Given the description of an element on the screen output the (x, y) to click on. 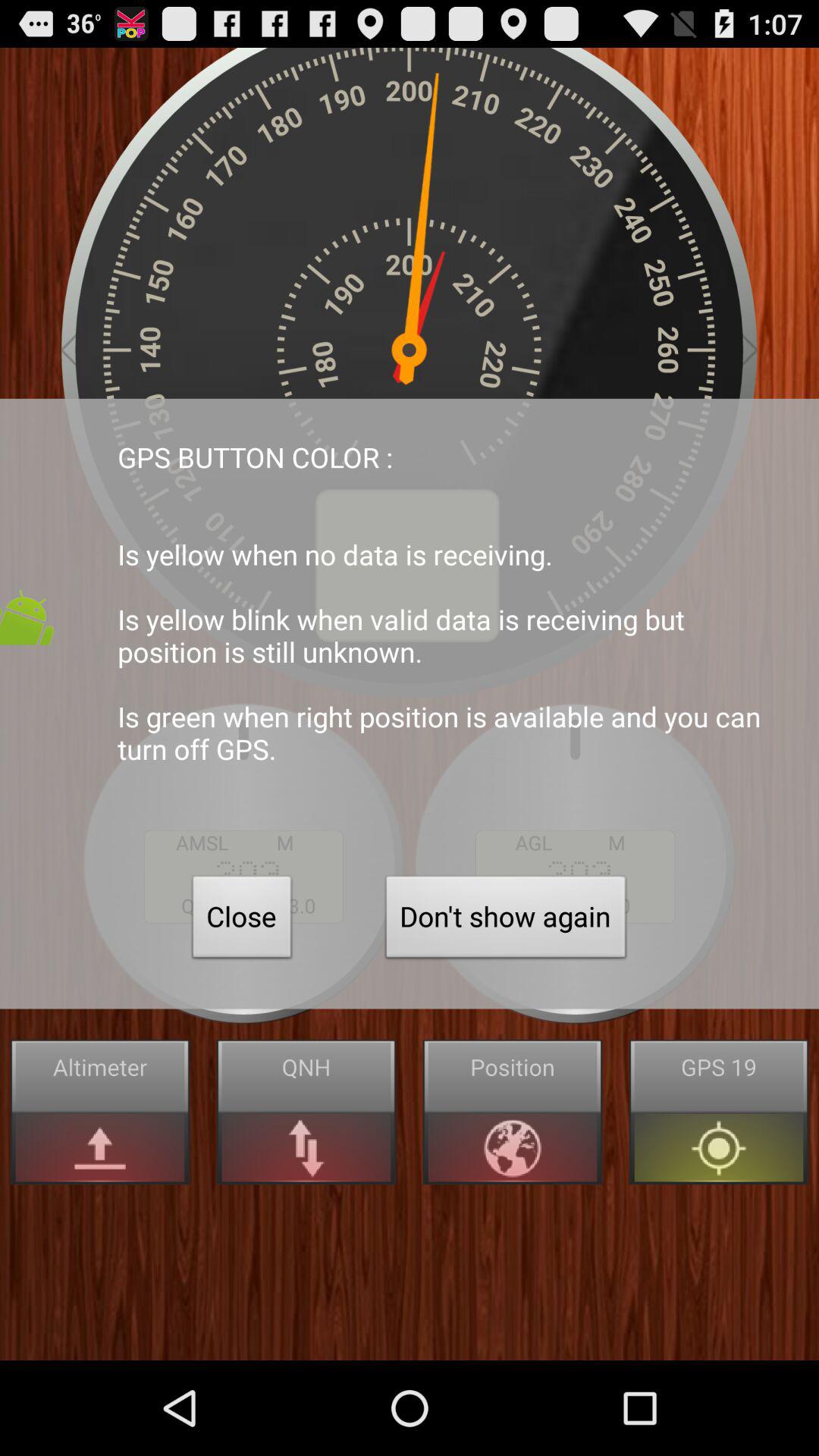
click the icon next to don t show (242, 921)
